Given the description of an element on the screen output the (x, y) to click on. 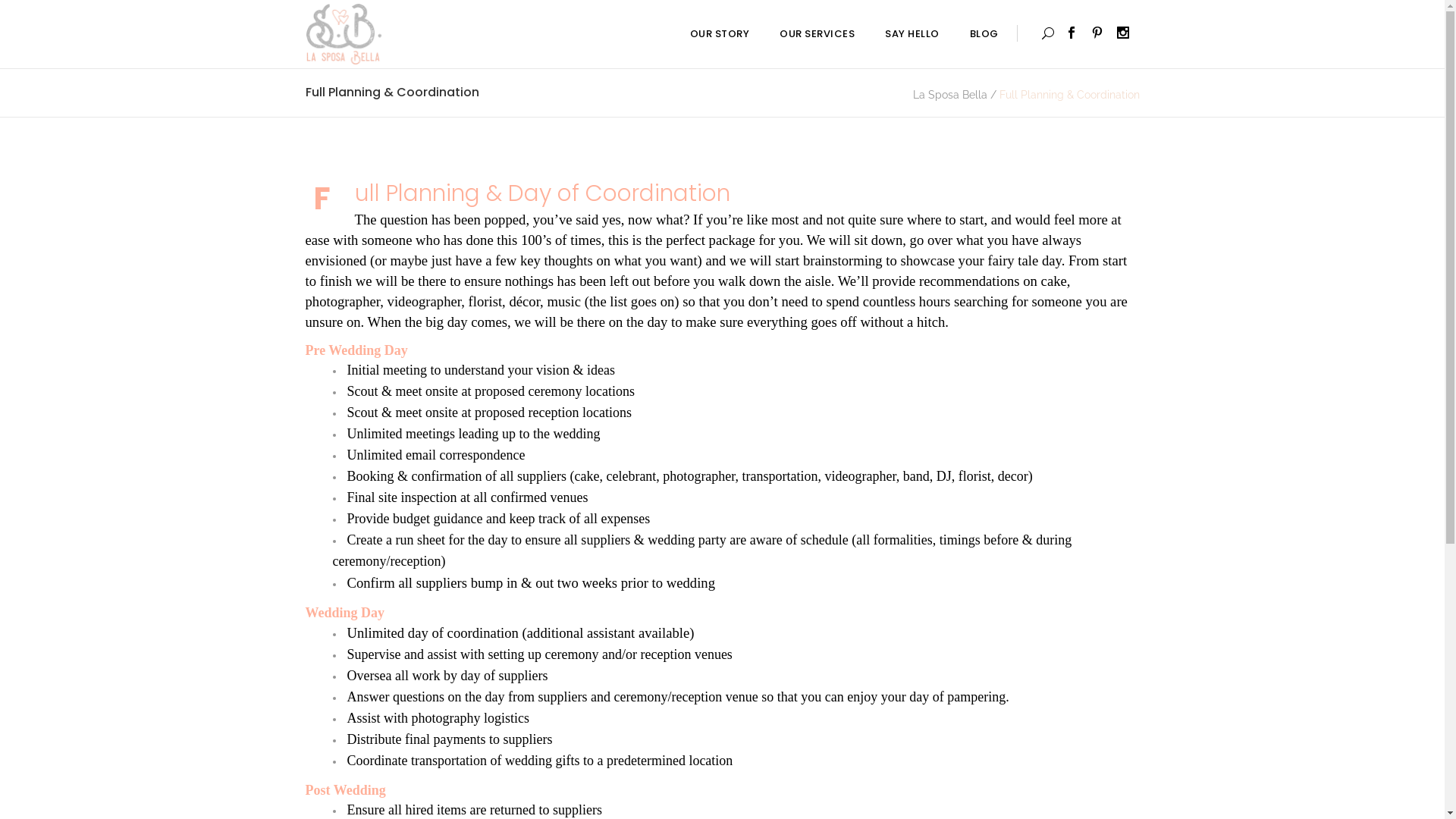
SAY HELLO Element type: text (911, 34)
OUR SERVICES Element type: text (816, 34)
La Sposa Bella Element type: text (950, 94)
OUR STORY Element type: text (719, 34)
BLOG Element type: text (983, 34)
